Given the description of an element on the screen output the (x, y) to click on. 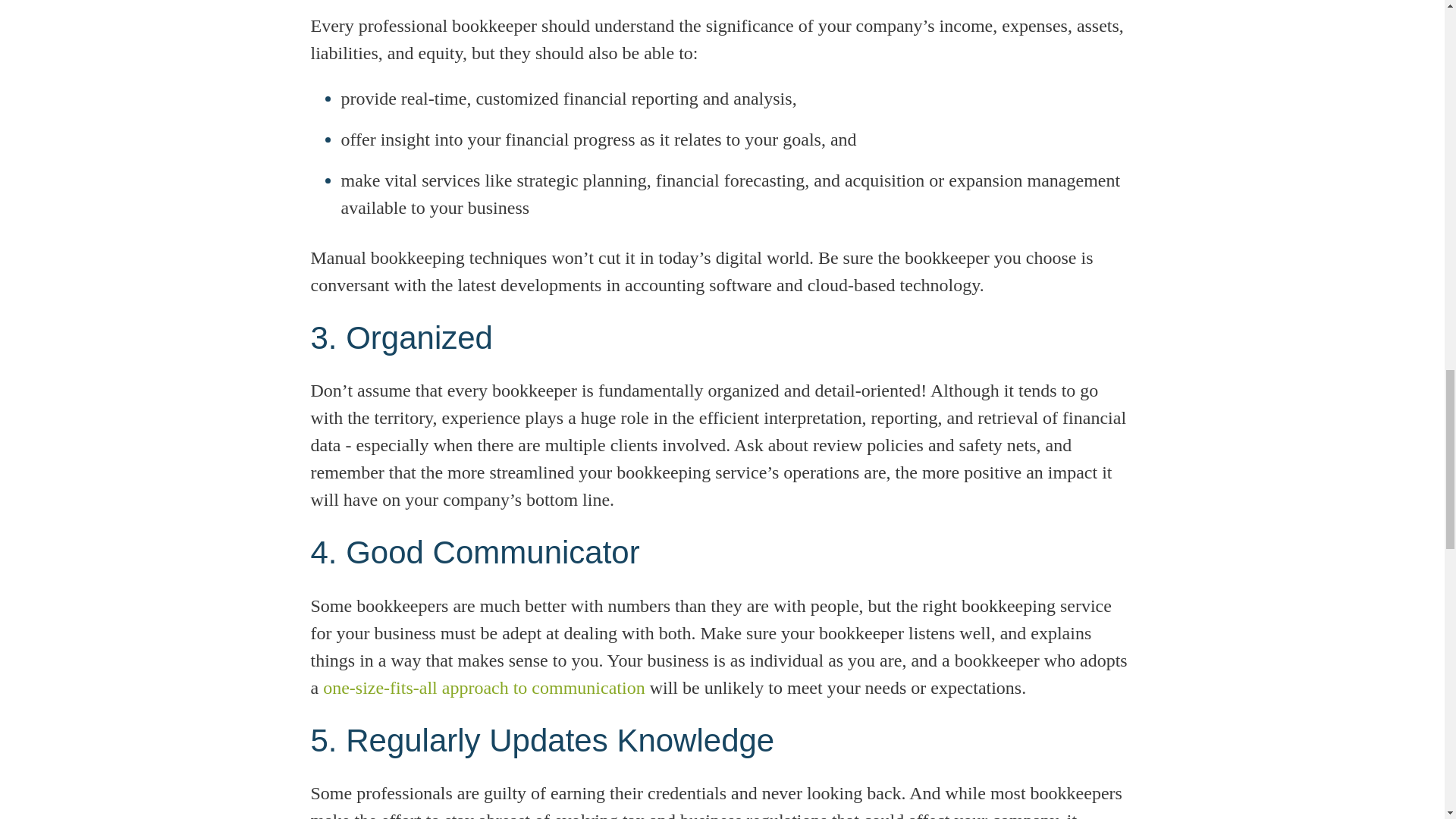
one-size-fits-all approach to communication (484, 687)
